Given the description of an element on the screen output the (x, y) to click on. 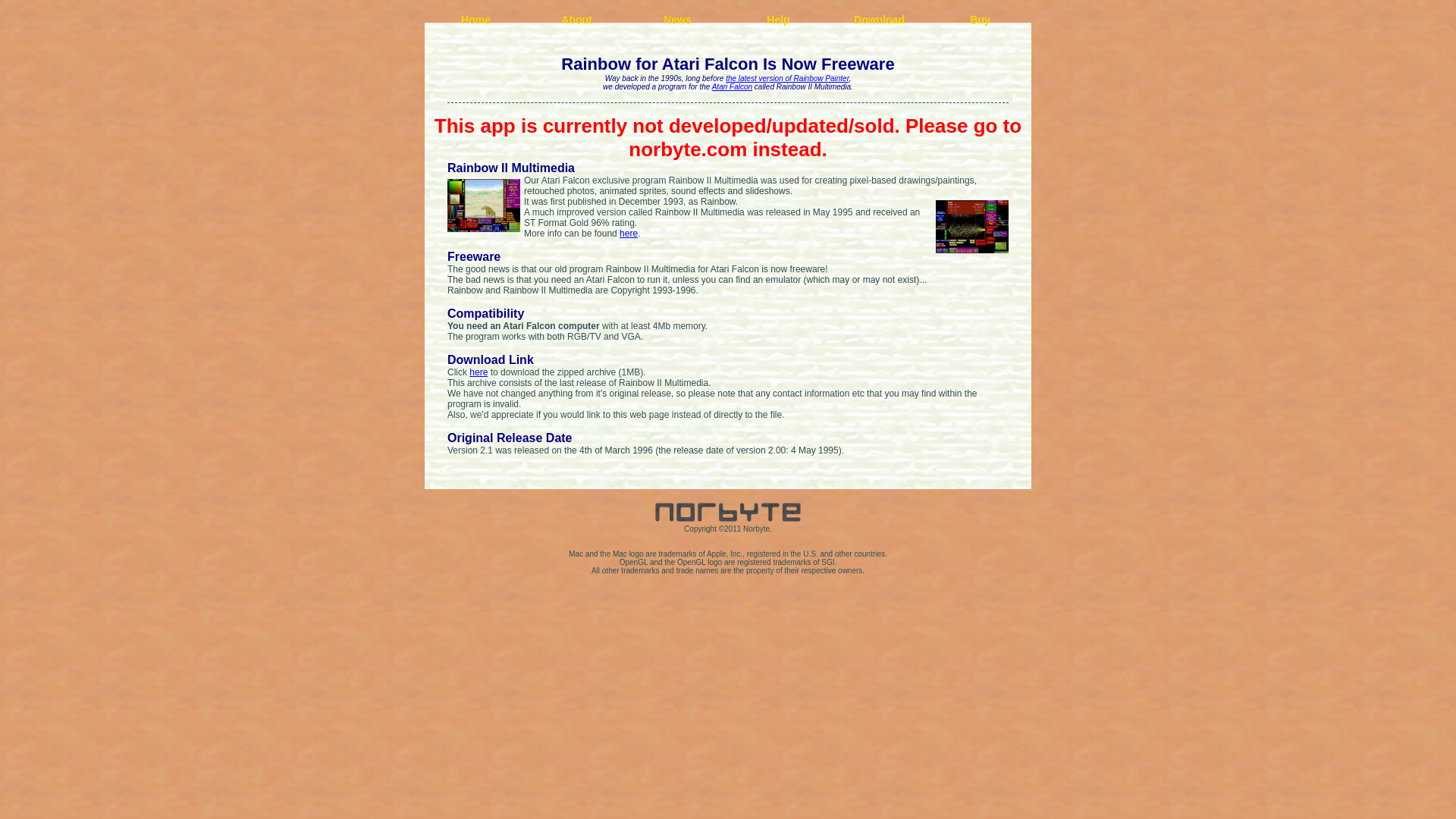
News (677, 19)
here (477, 371)
here (628, 233)
Buy (980, 19)
Atari Falcon (731, 86)
Help (778, 19)
Download (879, 19)
About (576, 19)
Home (475, 19)
the latest version of Rainbow Painter (786, 78)
